Given the description of an element on the screen output the (x, y) to click on. 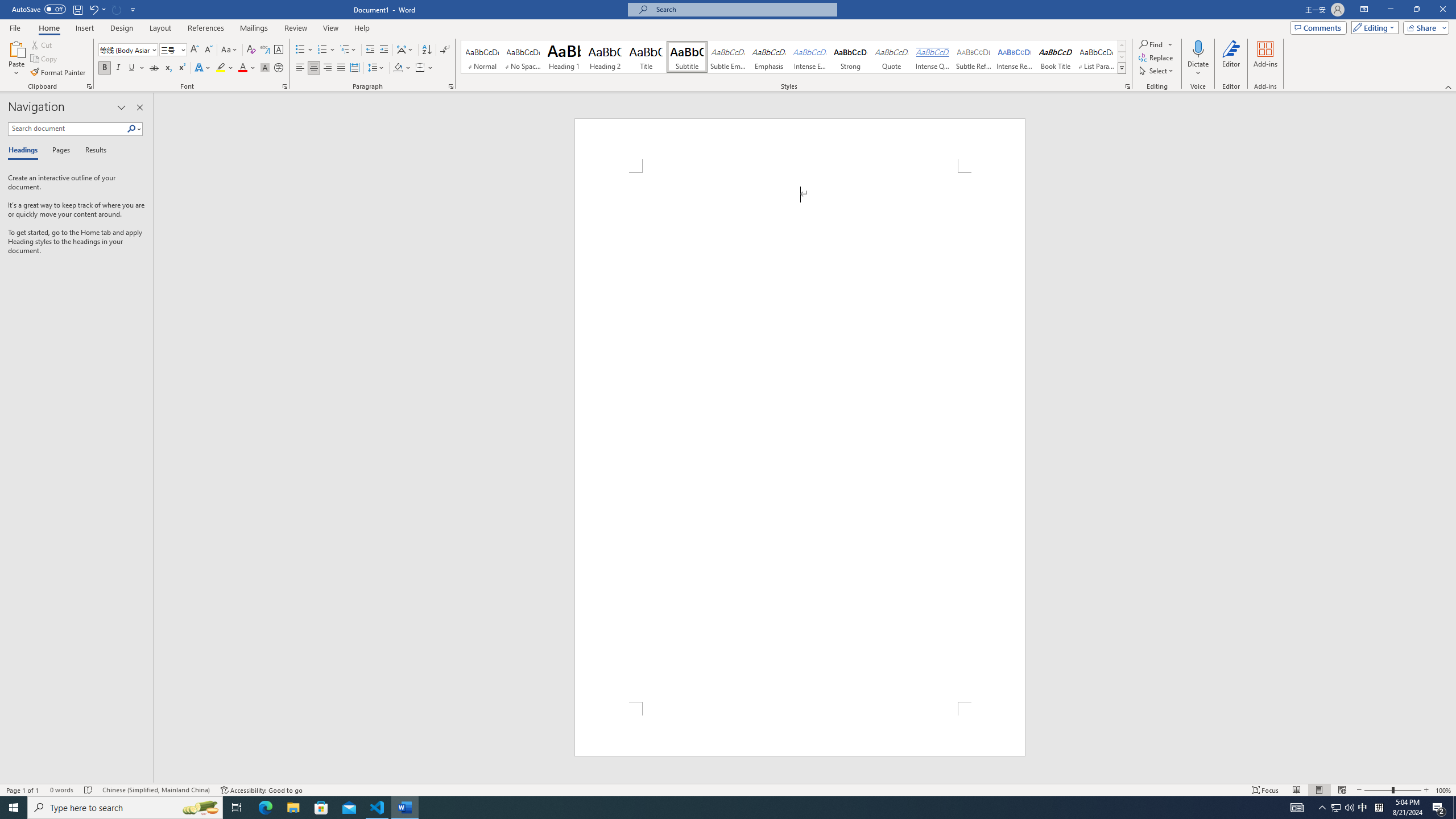
Book Title (1055, 56)
Page Number Page 1 of 1 (22, 790)
